Given the description of an element on the screen output the (x, y) to click on. 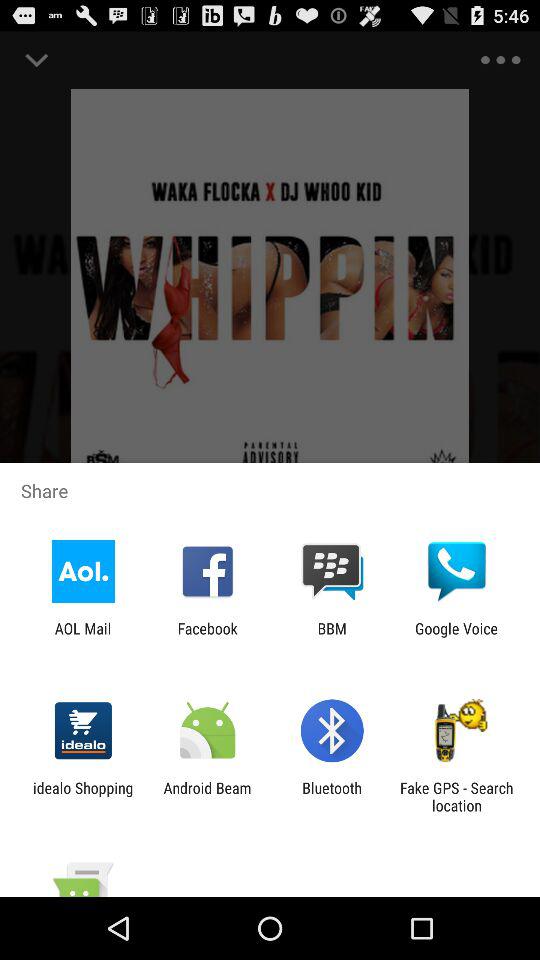
tap the icon to the right of the facebook (331, 637)
